Given the description of an element on the screen output the (x, y) to click on. 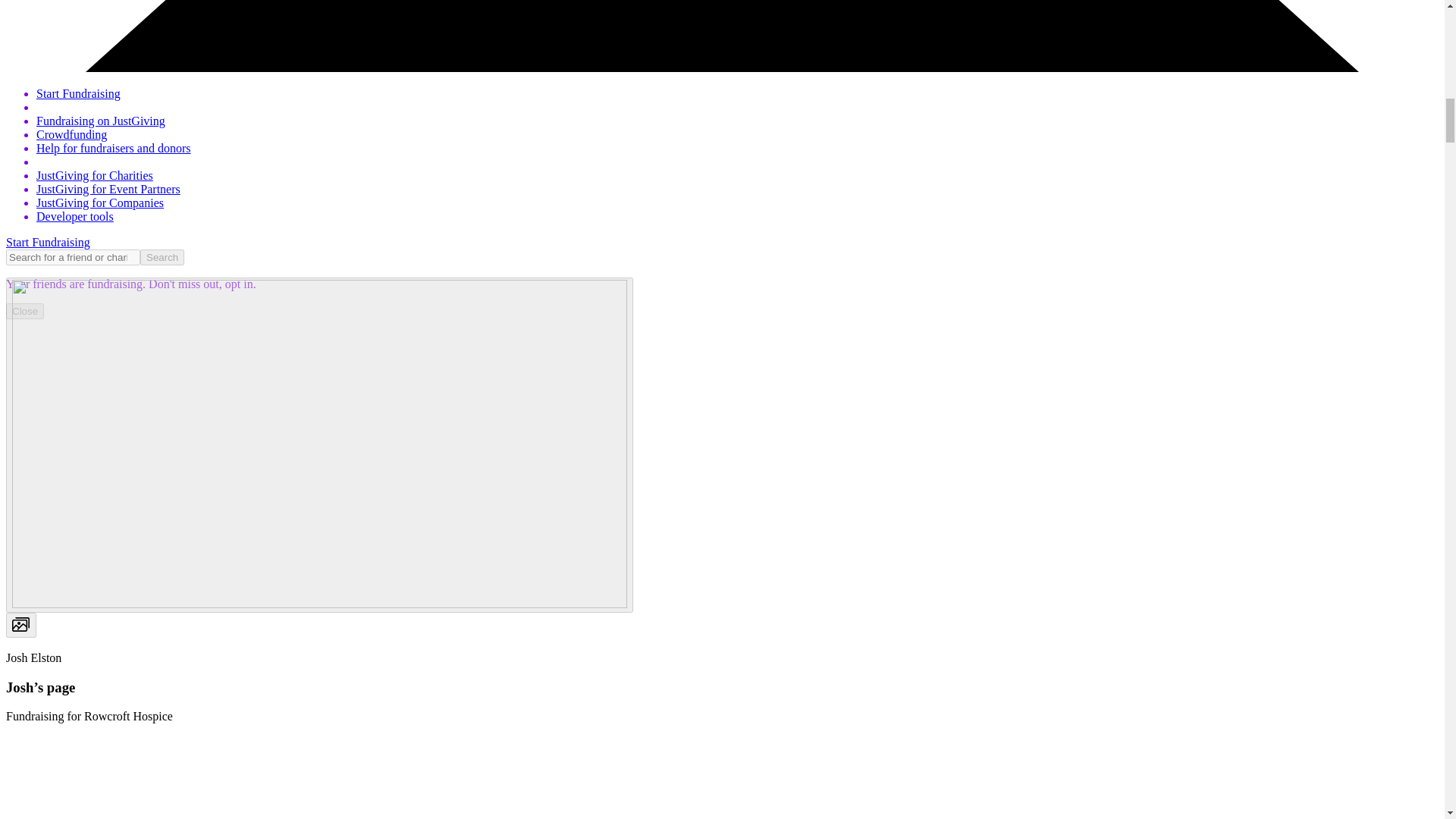
Start Fundraising (47, 241)
Help for fundraisers and donors (113, 147)
opt in. (239, 283)
Crowdfunding (71, 133)
Search (161, 257)
JustGiving for Event Partners (108, 188)
Close (24, 311)
JustGiving for Charities (94, 174)
Search (161, 257)
Search (161, 257)
Fundraising on JustGiving (100, 120)
Developer tools (74, 215)
Start Fundraising (78, 92)
JustGiving for Companies (99, 202)
